Given the description of an element on the screen output the (x, y) to click on. 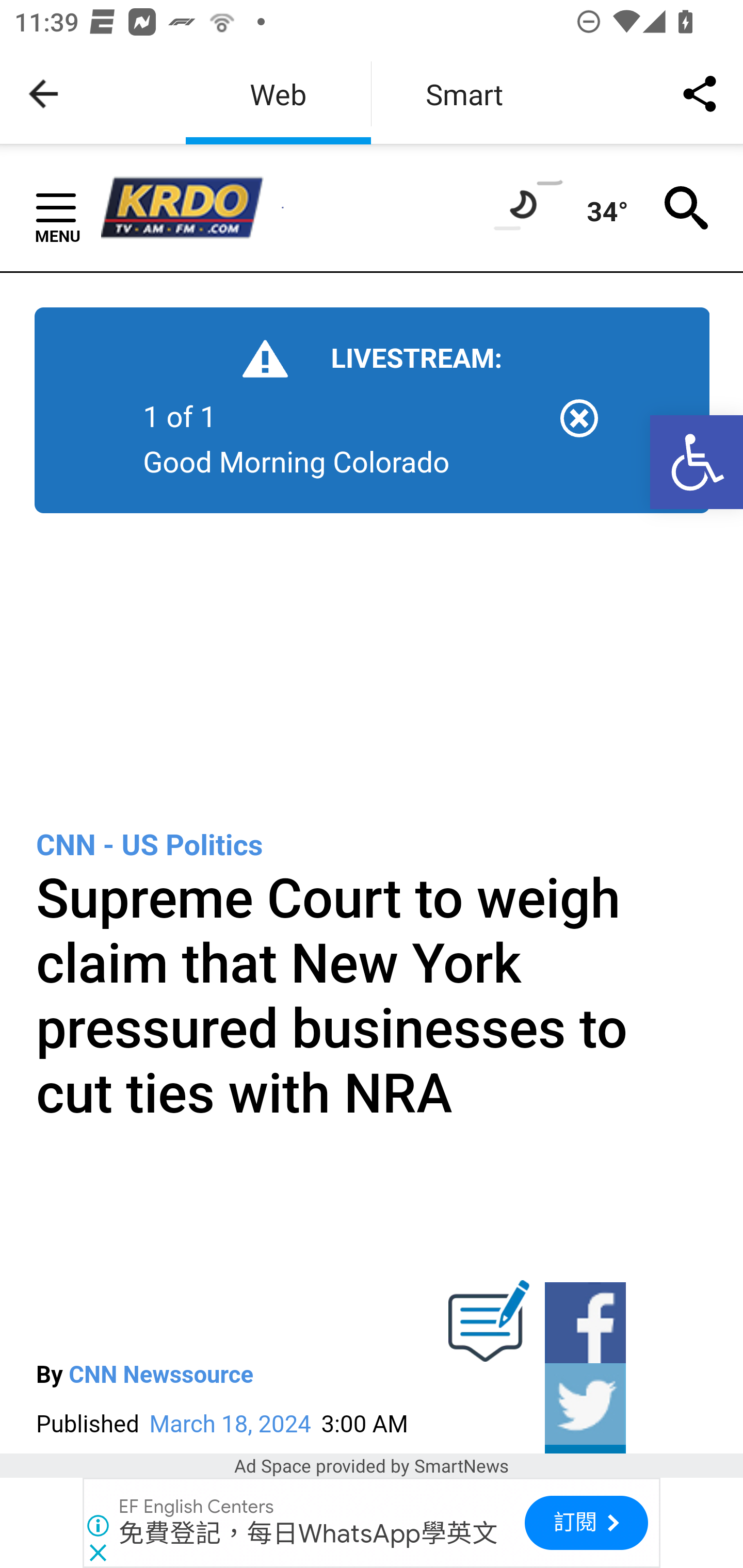
Web (277, 93)
Smart (464, 93)
KRDO  KRDO   (191, 208)
# search (686, 206)
CNN - US Politics (149, 844)
comment_icon (489, 1329)
Share on Facebook (584, 1322)
CNN Newssource (161, 1375)
Share on Twitter (584, 1403)
March 18, 2024  (232, 1423)
EF English Centers (196, 1507)
訂閱 (586, 1522)
免費登記，每日WhatsApp學英文 (308, 1533)
